Given the description of an element on the screen output the (x, y) to click on. 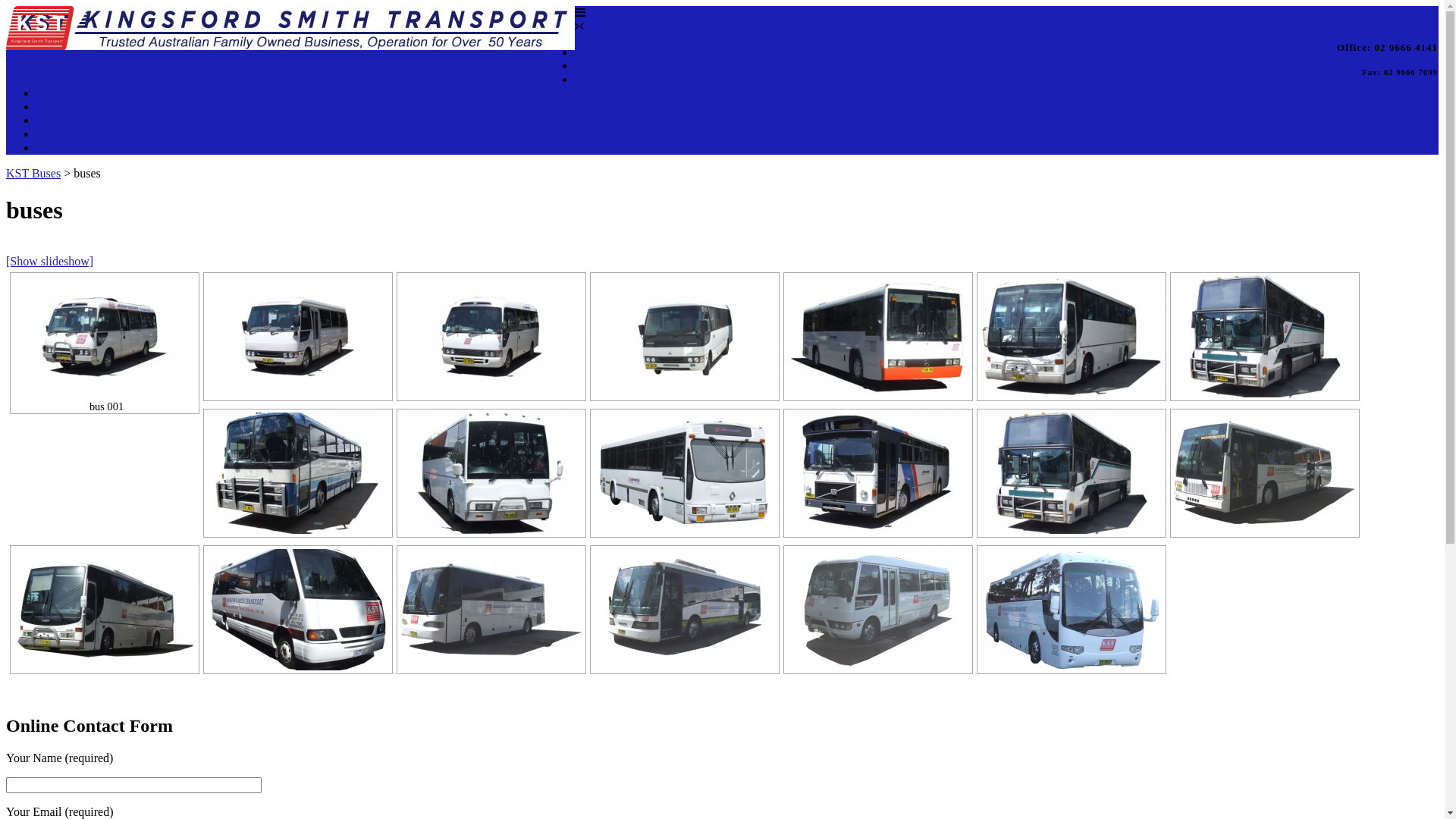
  Element type: hover (491, 336)
  Element type: hover (298, 609)
School Bus Element type: text (602, 78)
Home Element type: text (589, 51)
Private Charter Element type: text (72, 92)
  Element type: hover (298, 336)
Fleet Element type: text (48, 119)
  Element type: hover (878, 472)
  Element type: hover (684, 336)
Skip to content Element type: text (5, 5)
  Element type: hover (1071, 336)
  Element type: hover (104, 609)
  Element type: hover (684, 472)
KST Buses Element type: text (33, 172)
  Element type: hover (491, 609)
  Element type: hover (1071, 609)
bus 001 Element type: hover (104, 336)
Bus for Sale Element type: text (66, 133)
Bookings Element type: text (597, 65)
Contact Element type: text (55, 147)
CONTRACT SERVICES Element type: text (98, 106)
  Element type: hover (878, 336)
  Element type: hover (1071, 472)
  Element type: hover (298, 472)
[Show slideshow] Element type: text (49, 260)
  Element type: hover (878, 609)
  Element type: hover (491, 472)
  Element type: hover (1264, 336)
  Element type: hover (1264, 472)
  Element type: hover (684, 609)
